Given the description of an element on the screen output the (x, y) to click on. 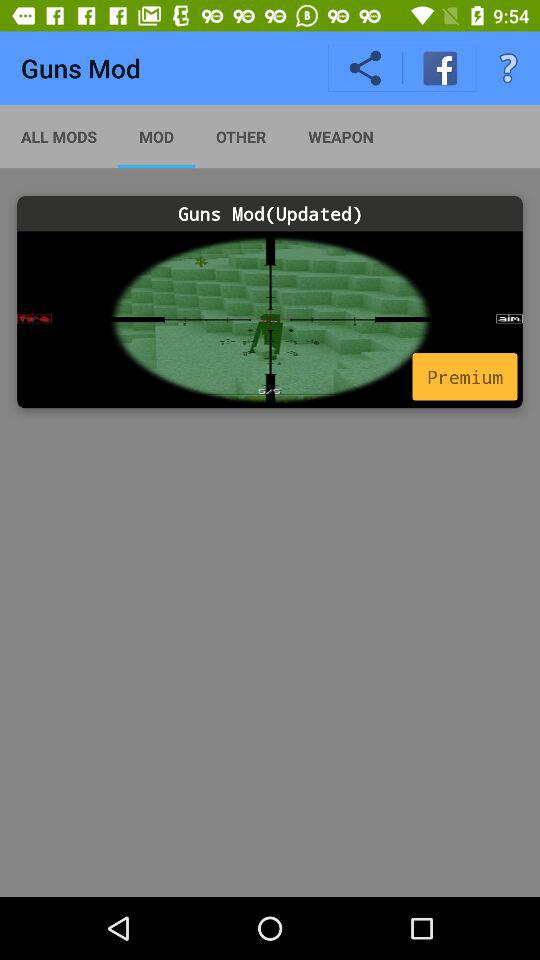
jump until the all mods item (59, 136)
